Given the description of an element on the screen output the (x, y) to click on. 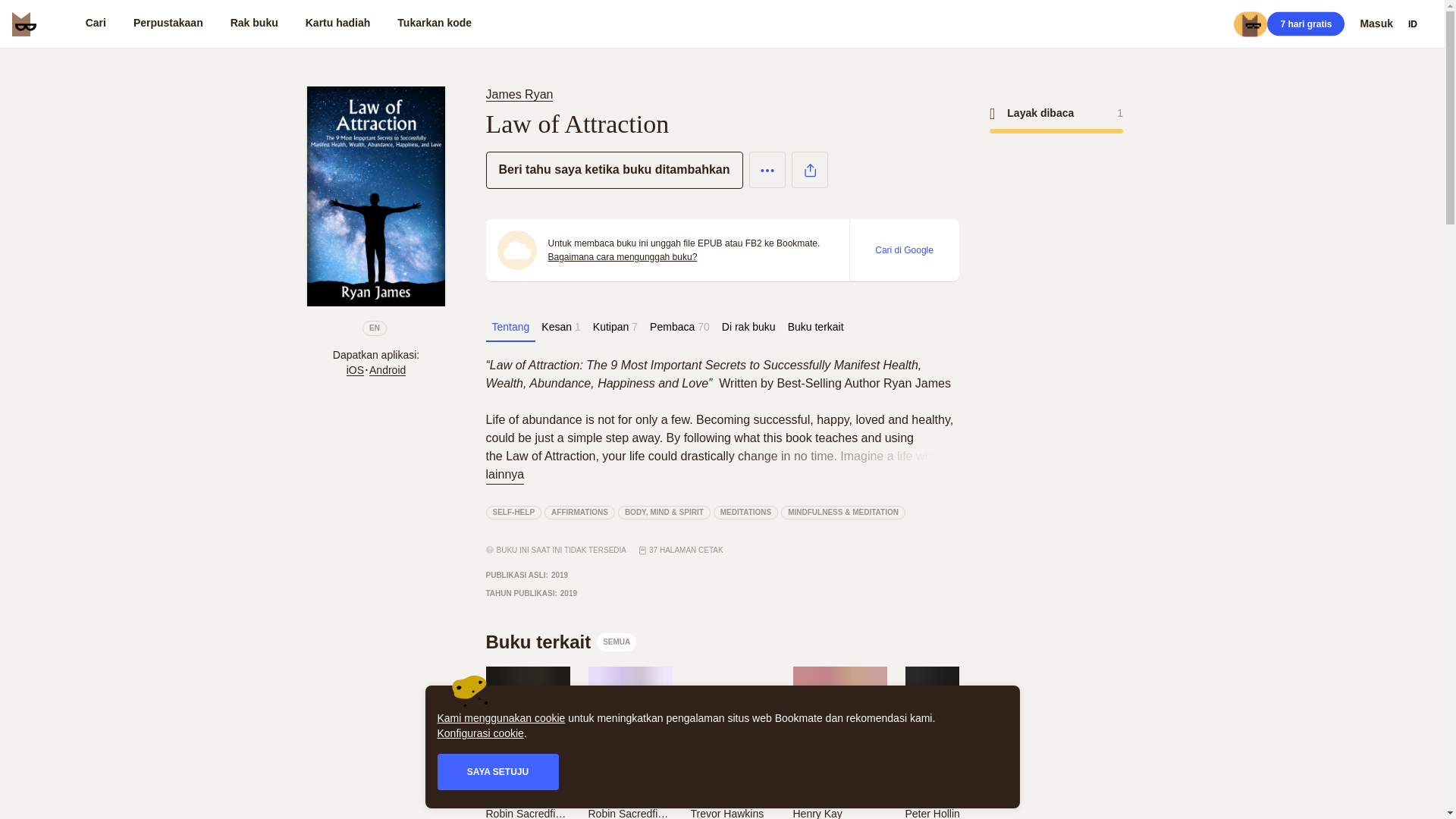
Trevor Hawkins (731, 812)
Kesan1 (560, 327)
Rak buku (254, 24)
Tentang (509, 327)
Robin Sacredfire (629, 812)
Trevor Hawkins (726, 813)
Perpustakaan (168, 24)
Henry Kay (818, 813)
Peter Hollins (935, 813)
Di rak buku (748, 327)
Robin Sacredfire (525, 812)
Bagaimana cara mengunggah buku? (622, 256)
Robin Sacredfire (525, 813)
Robin Sacredfire (628, 813)
